Given the description of an element on the screen output the (x, y) to click on. 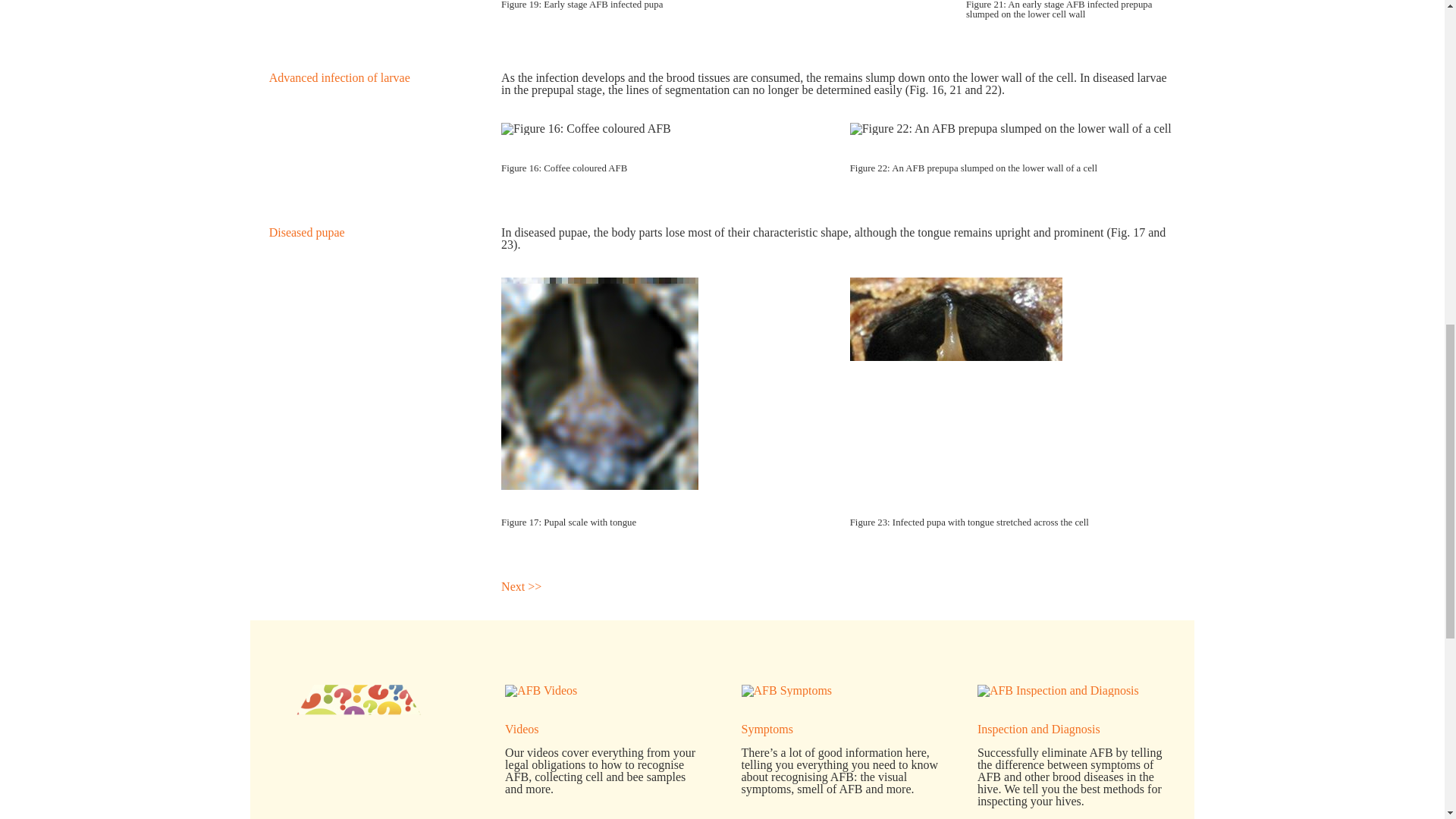
17-Fig-Pupal-scale-with-tongue (599, 383)
16-Fig-Coffee-coloured-AFB (585, 128)
23-Fig-Infected-pupa (956, 383)
22-Fig-AFB-prepupa (1011, 128)
